Given the description of an element on the screen output the (x, y) to click on. 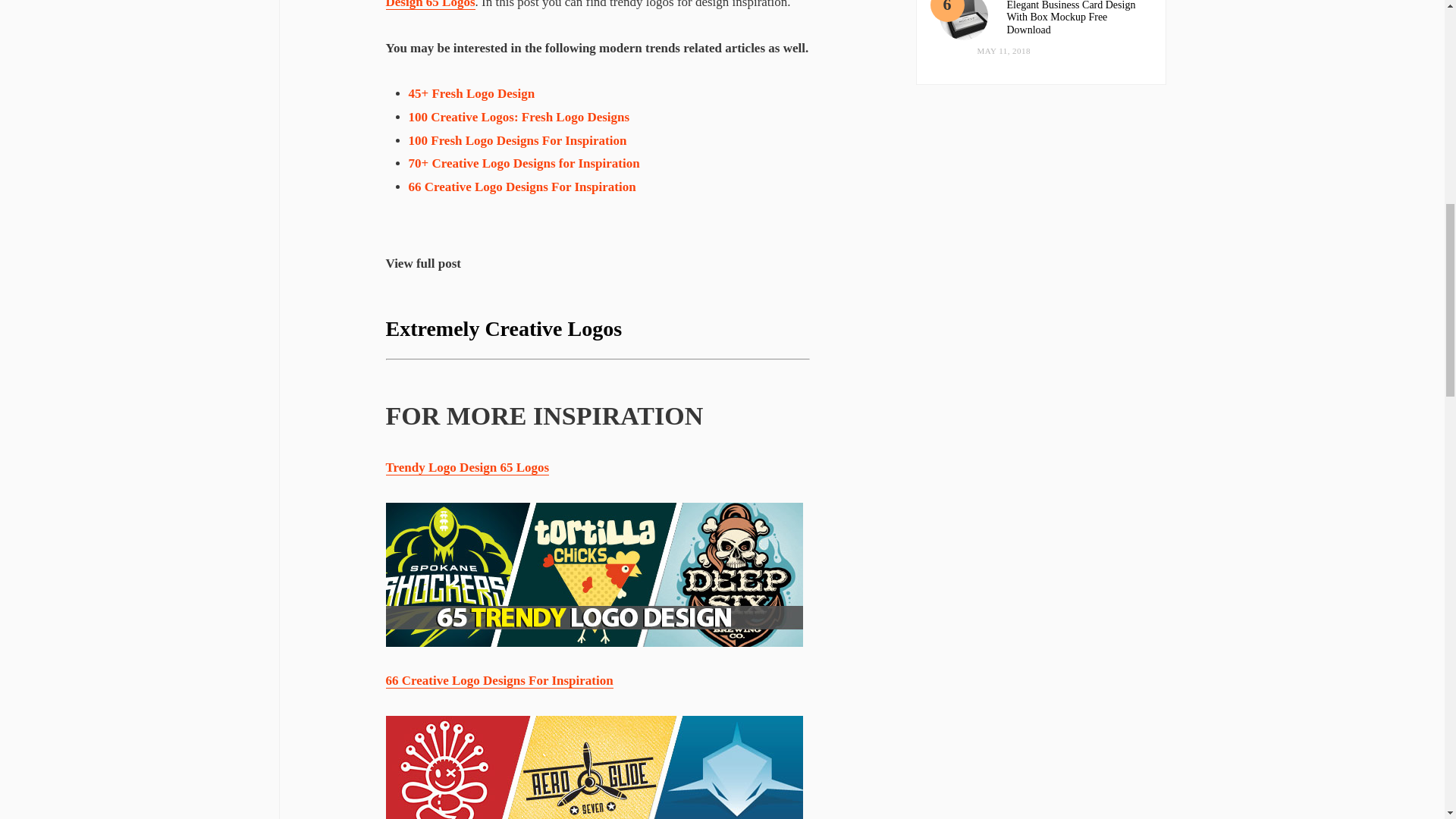
Trendy Logo Design 65 Logos (589, 5)
Elegant Business Card Design With Box Mockup Free Download (963, 20)
Trendy Logo Design 65 Logos (593, 574)
66 Creative Logo Designs For Inspiration (593, 767)
100 Creative Logos: Fresh Logo Designs (517, 116)
100-fresh-logo-designs-for-inspiration (516, 140)
